Given the description of an element on the screen output the (x, y) to click on. 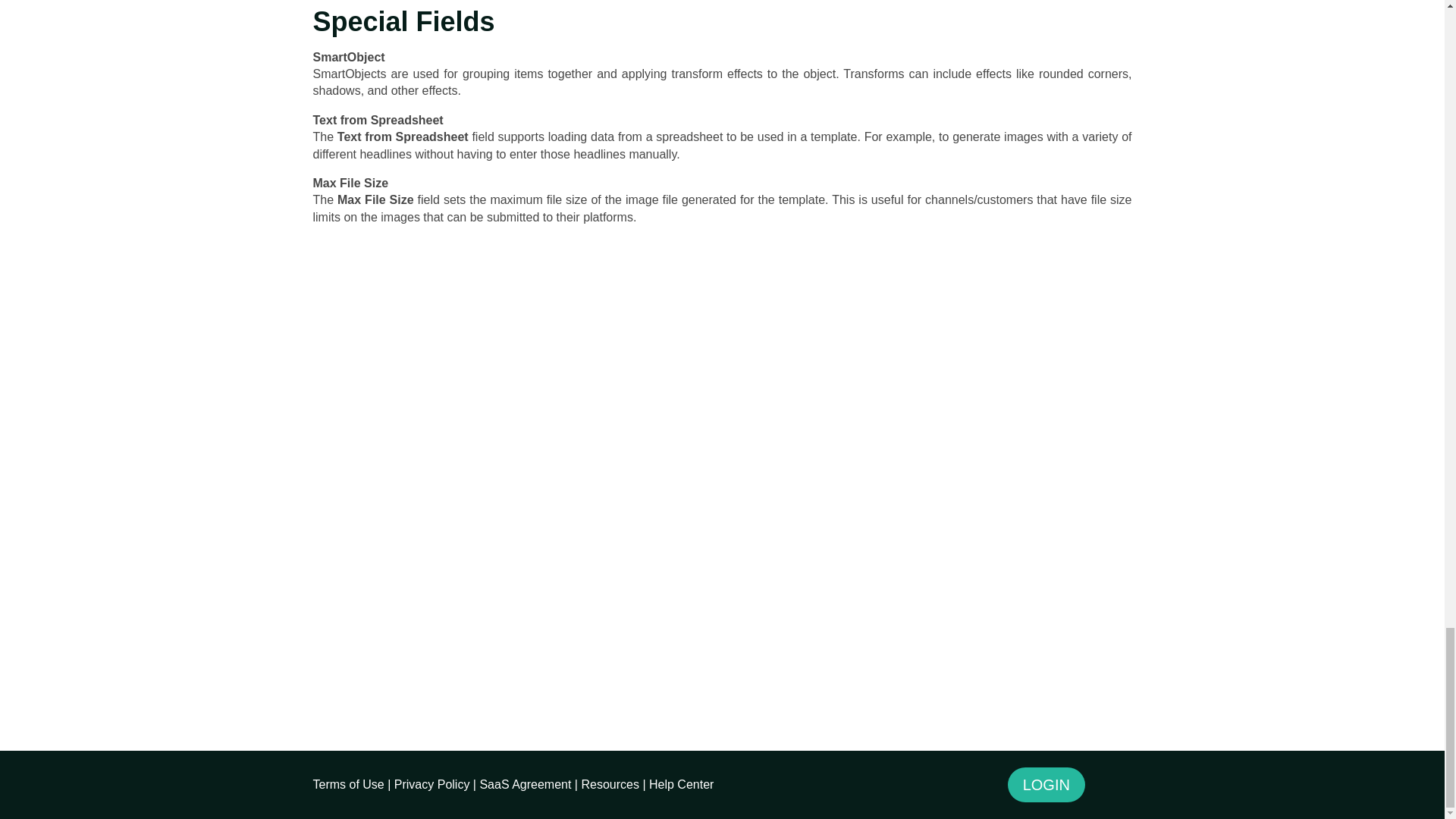
Terms of Use (348, 784)
SaaS Agreement (524, 784)
Help Center (681, 784)
LOGIN (1045, 784)
Resources (609, 784)
Privacy Policy (432, 784)
